Given the description of an element on the screen output the (x, y) to click on. 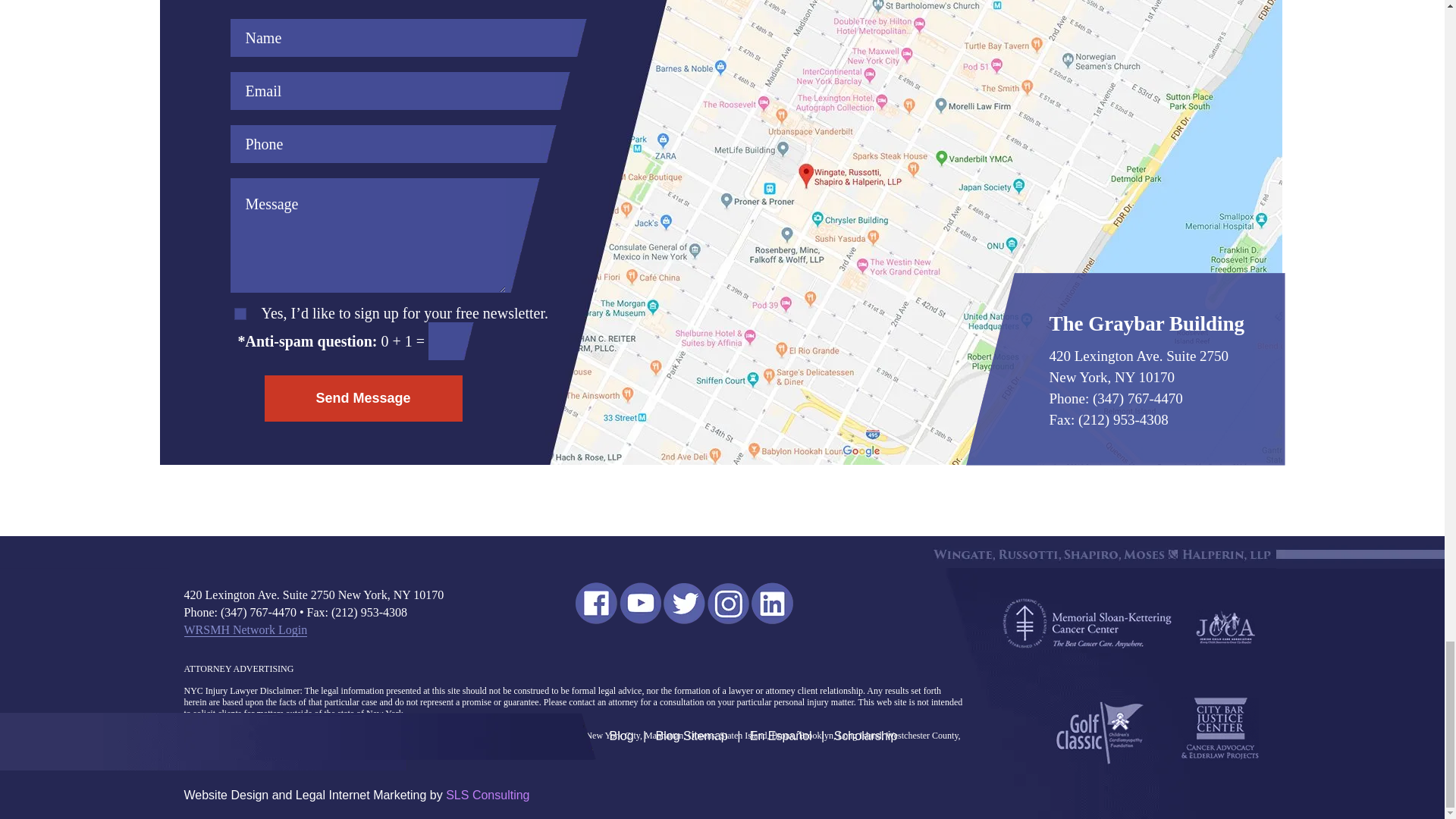
Phone (385, 143)
Name (401, 37)
Email (392, 90)
Send Message (362, 398)
yes (239, 313)
